Given the description of an element on the screen output the (x, y) to click on. 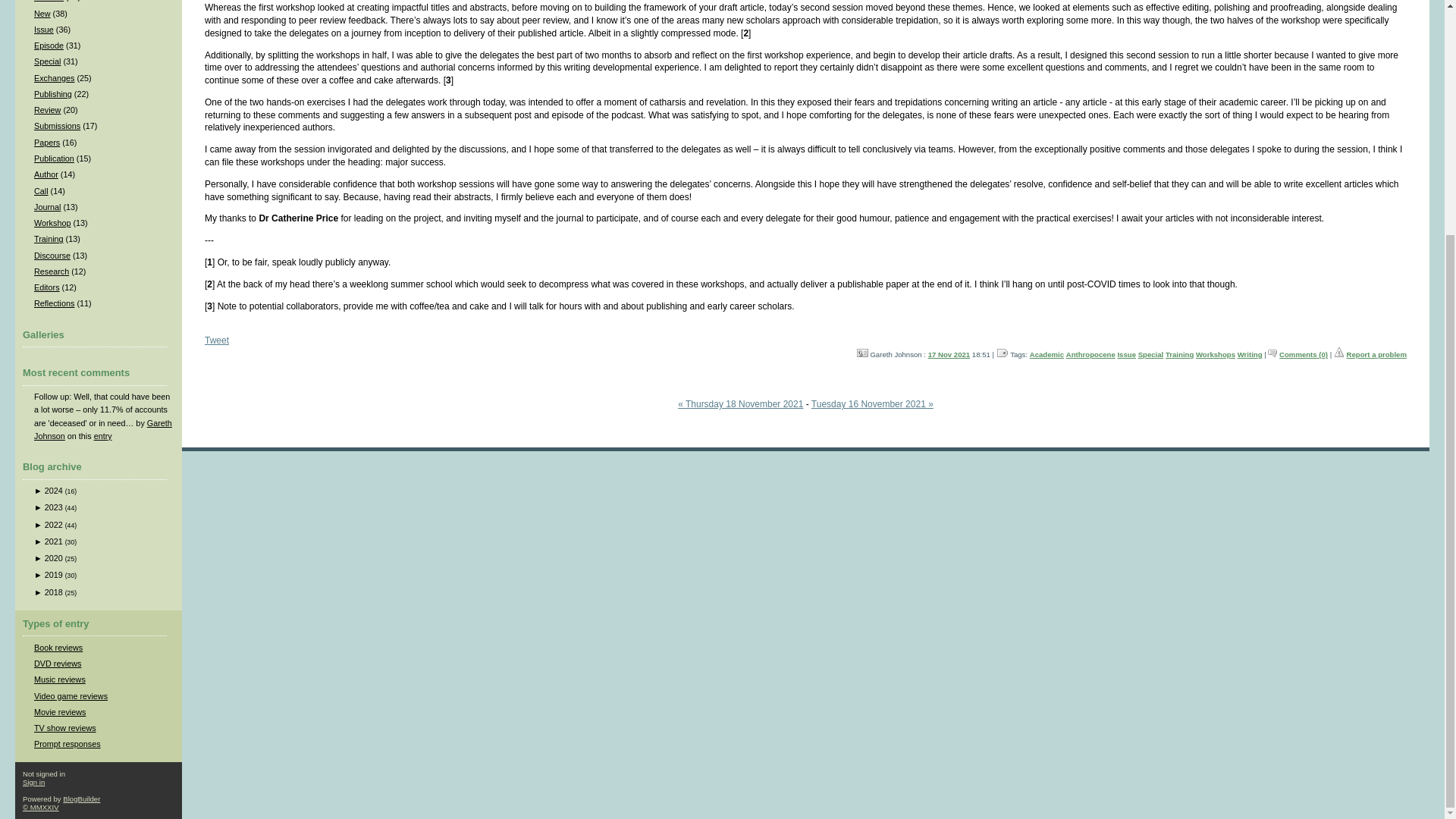
Review (47, 109)
17 Nov 2021 (948, 354)
Training (1179, 354)
Papers (46, 142)
Submissions (56, 125)
Tweet (216, 339)
Exchanges (53, 77)
Workshops (1214, 354)
Publication (53, 157)
Writing (1249, 354)
Report a problem (1376, 354)
Special (47, 61)
Issue (1125, 354)
Podcast (48, 0)
